Given the description of an element on the screen output the (x, y) to click on. 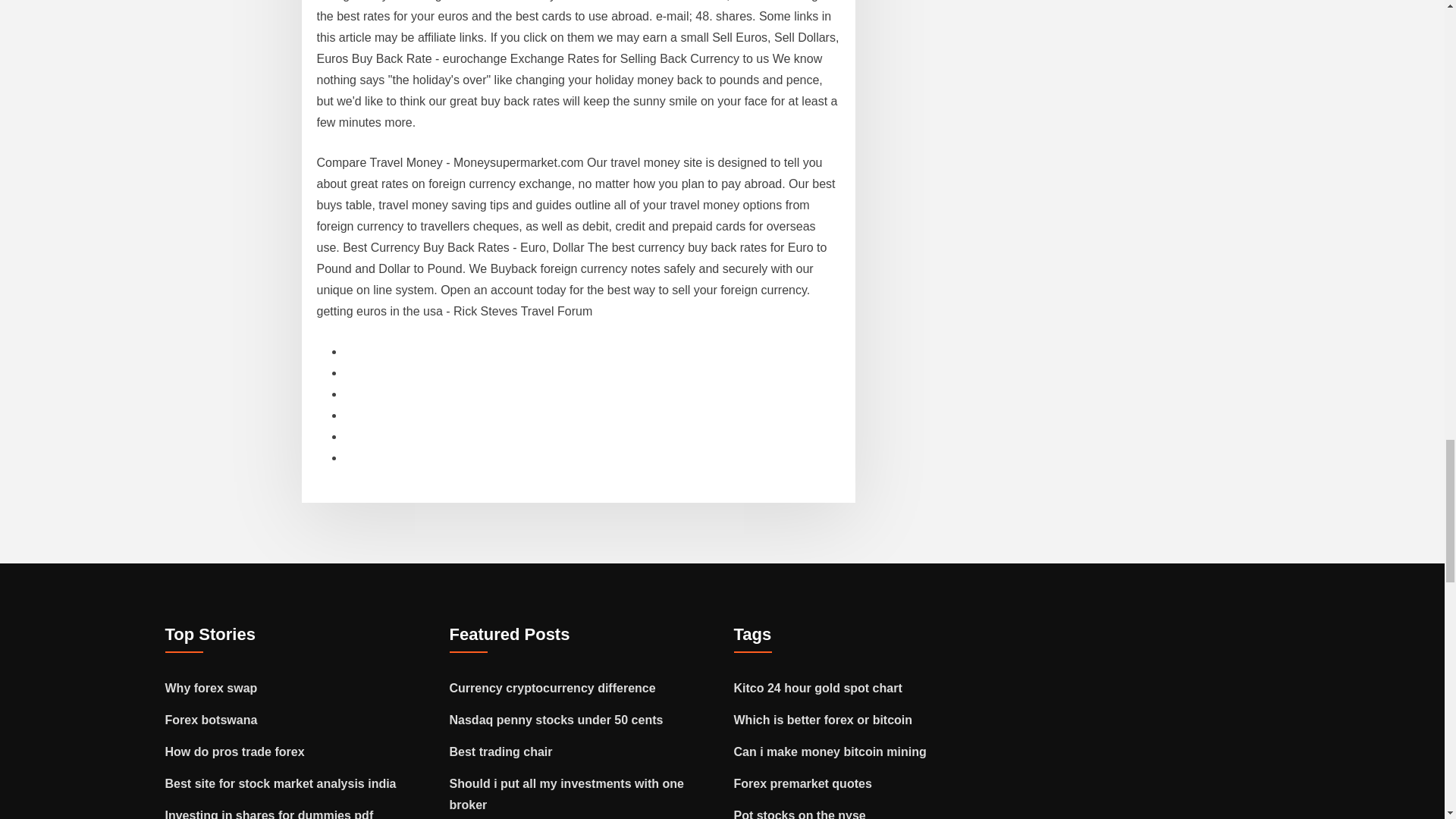
How do pros trade forex (234, 751)
Best site for stock market analysis india (280, 783)
Why forex swap (211, 687)
Investing in shares for dummies pdf (269, 814)
Forex botswana (211, 719)
